Given the description of an element on the screen output the (x, y) to click on. 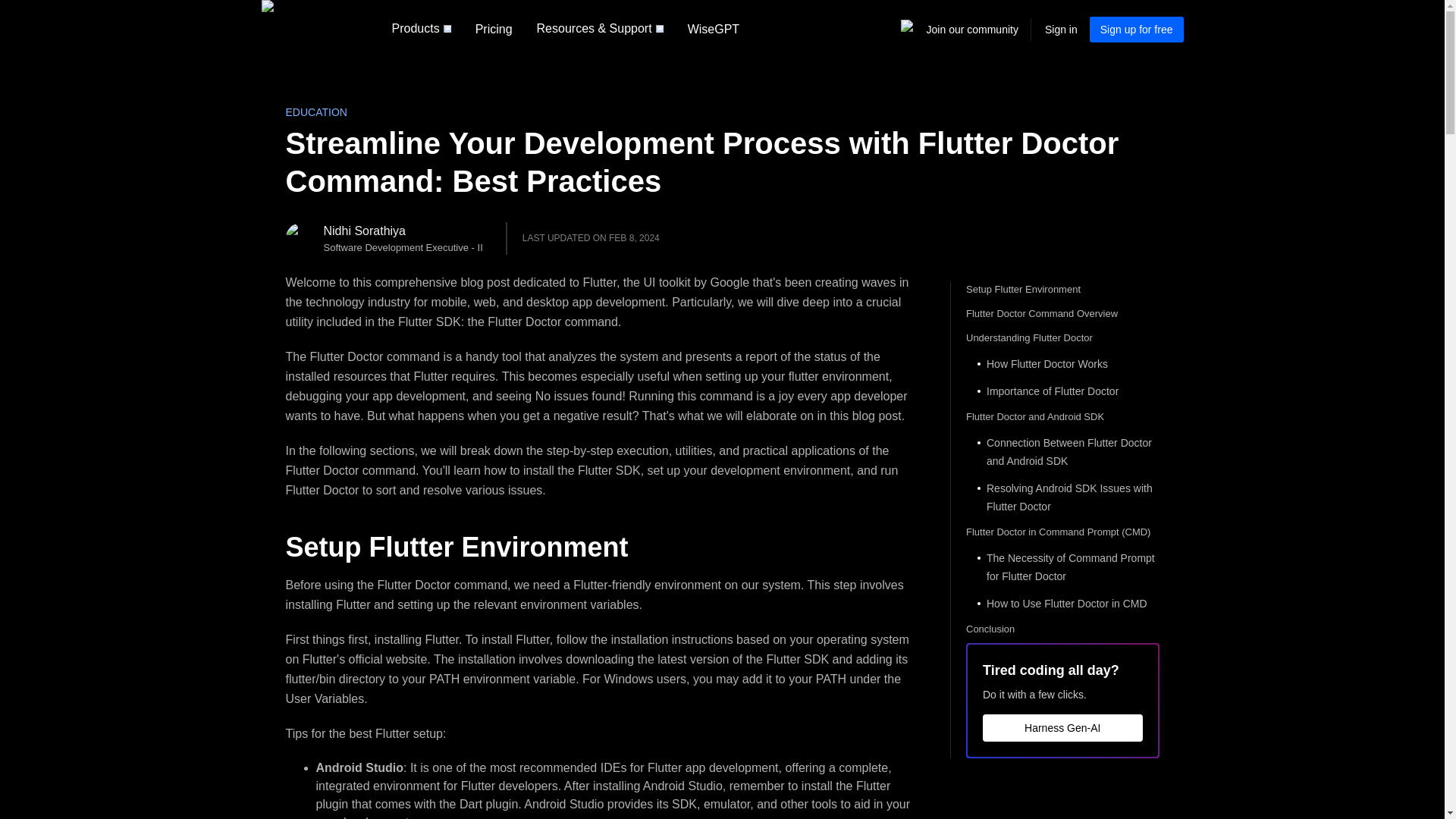
The Necessity of Command Prompt for Flutter Doctor (1062, 566)
Resolving Android SDK Issues with Flutter Doctor (1062, 497)
Understanding Flutter Doctor (1062, 337)
How to Use Flutter Doctor in CMD (1062, 603)
Conclusion (1062, 629)
Join our community (972, 29)
Flutter Doctor and Android SDK (1062, 417)
Importance of Flutter Doctor (1062, 391)
Connection Between Flutter Doctor and Android SDK (1062, 452)
Sign up for free (1136, 29)
